Given the description of an element on the screen output the (x, y) to click on. 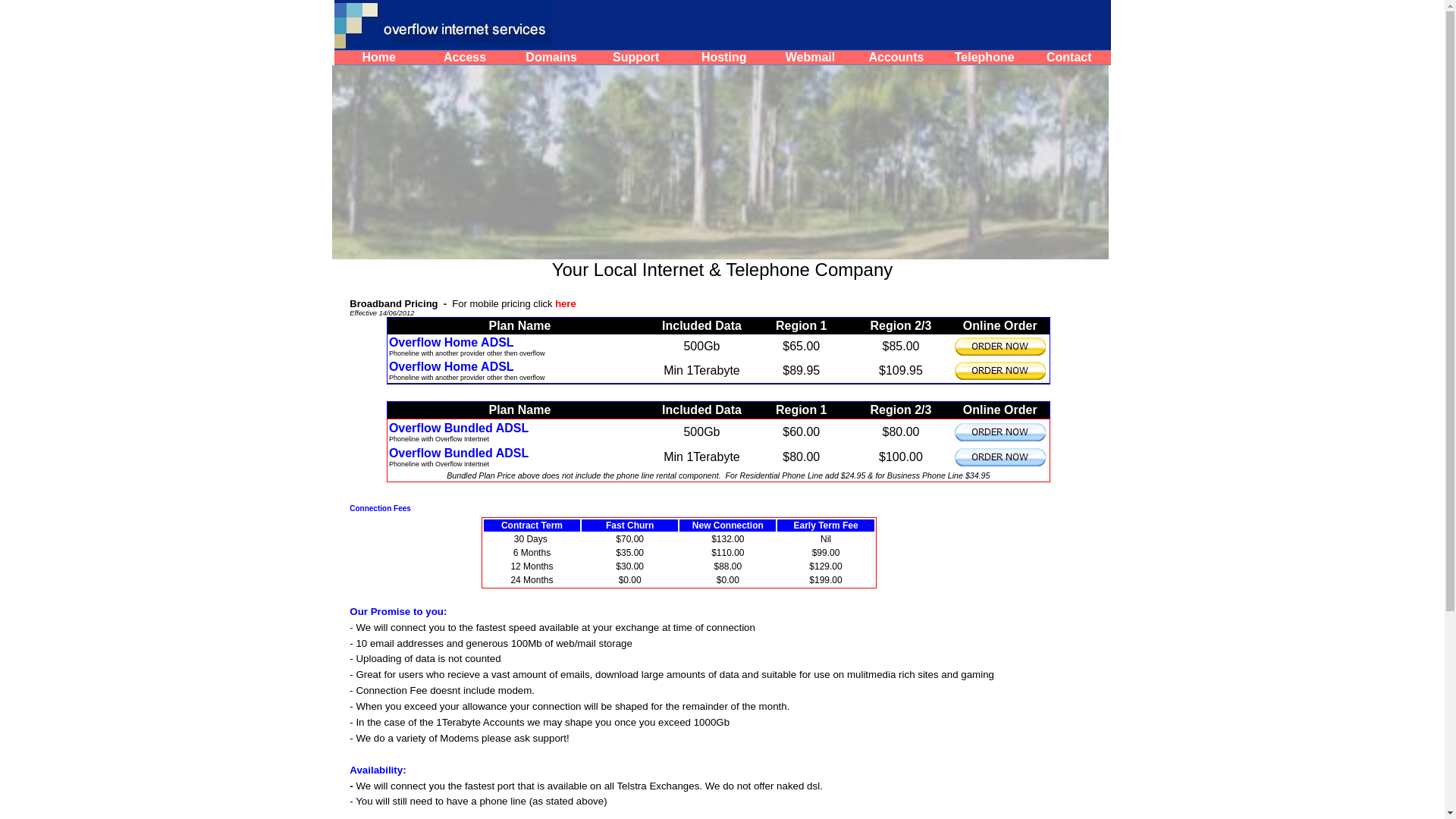
Access Element type: text (464, 57)
Domains Element type: text (551, 57)
Home Element type: text (378, 57)
Contact Element type: text (1069, 57)
Hosting Element type: text (723, 57)
here Element type: text (566, 303)
Webmail Element type: text (810, 57)
Accounts Element type: text (895, 57)
